Given the description of an element on the screen output the (x, y) to click on. 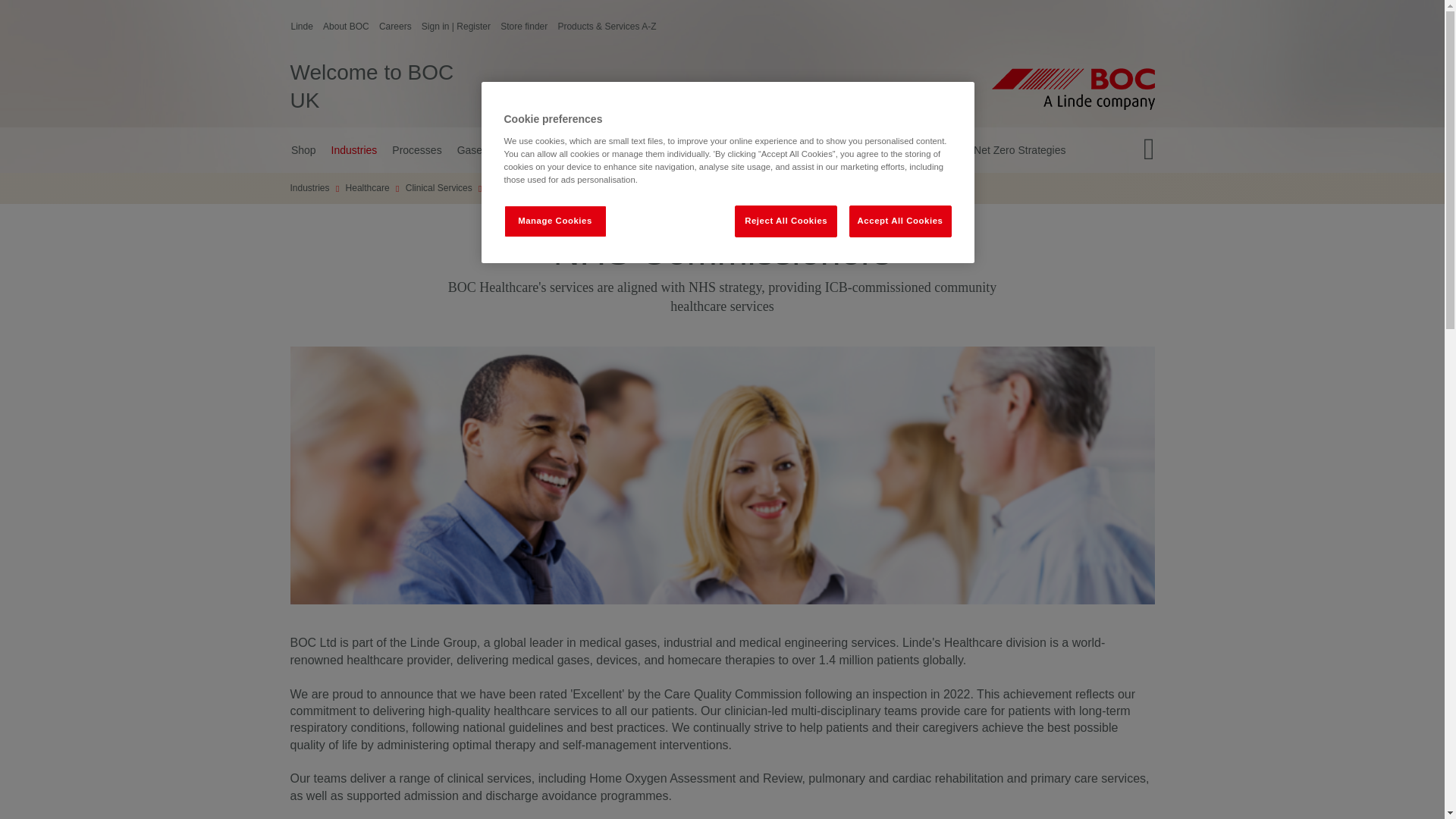
Careers (395, 26)
Store finder (548, 87)
Industries (523, 26)
About BOC (354, 149)
Linde (346, 26)
